Given the description of an element on the screen output the (x, y) to click on. 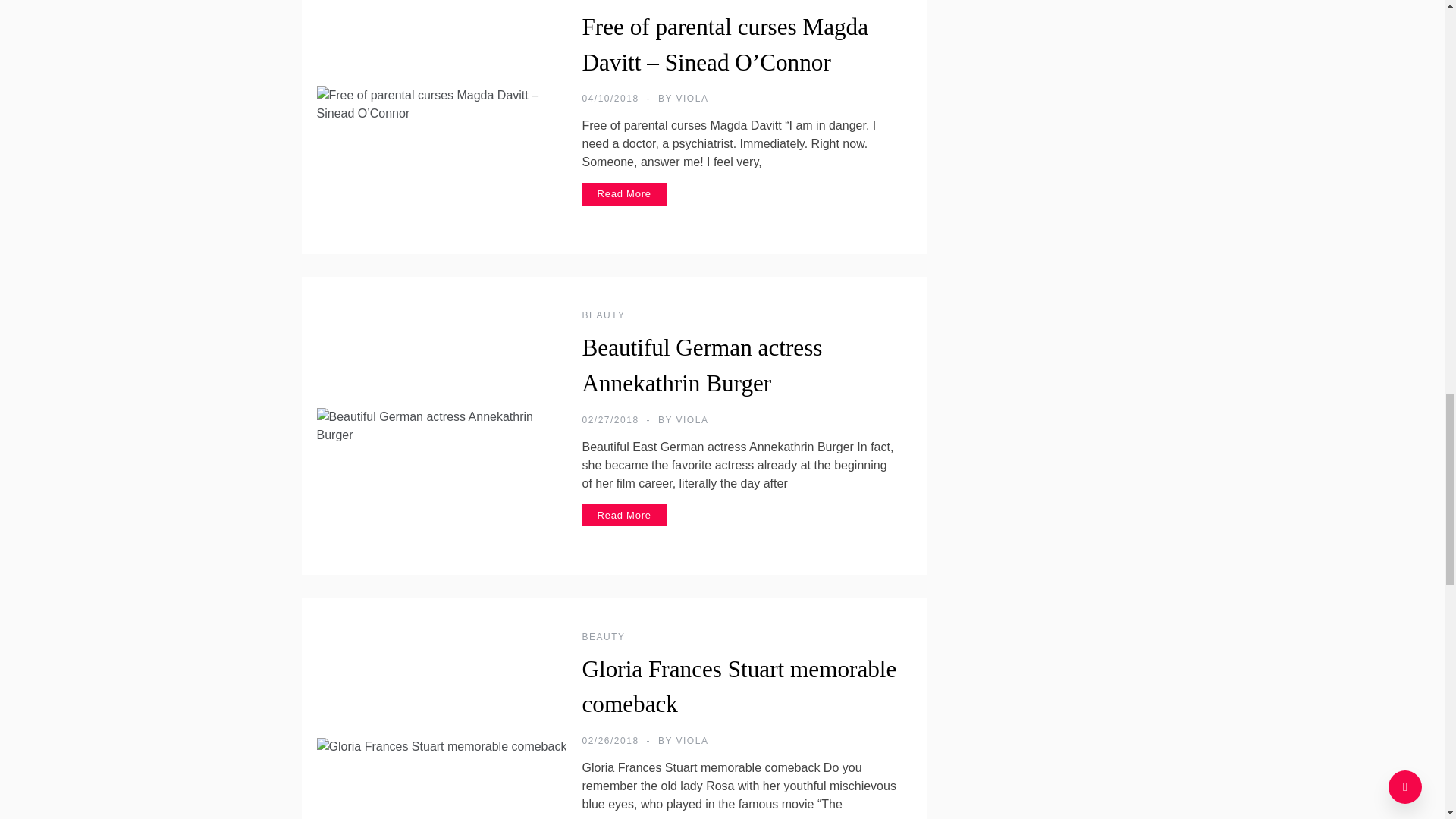
VIOLA (693, 98)
BEAUTY (604, 315)
Read More (624, 193)
